Given the description of an element on the screen output the (x, y) to click on. 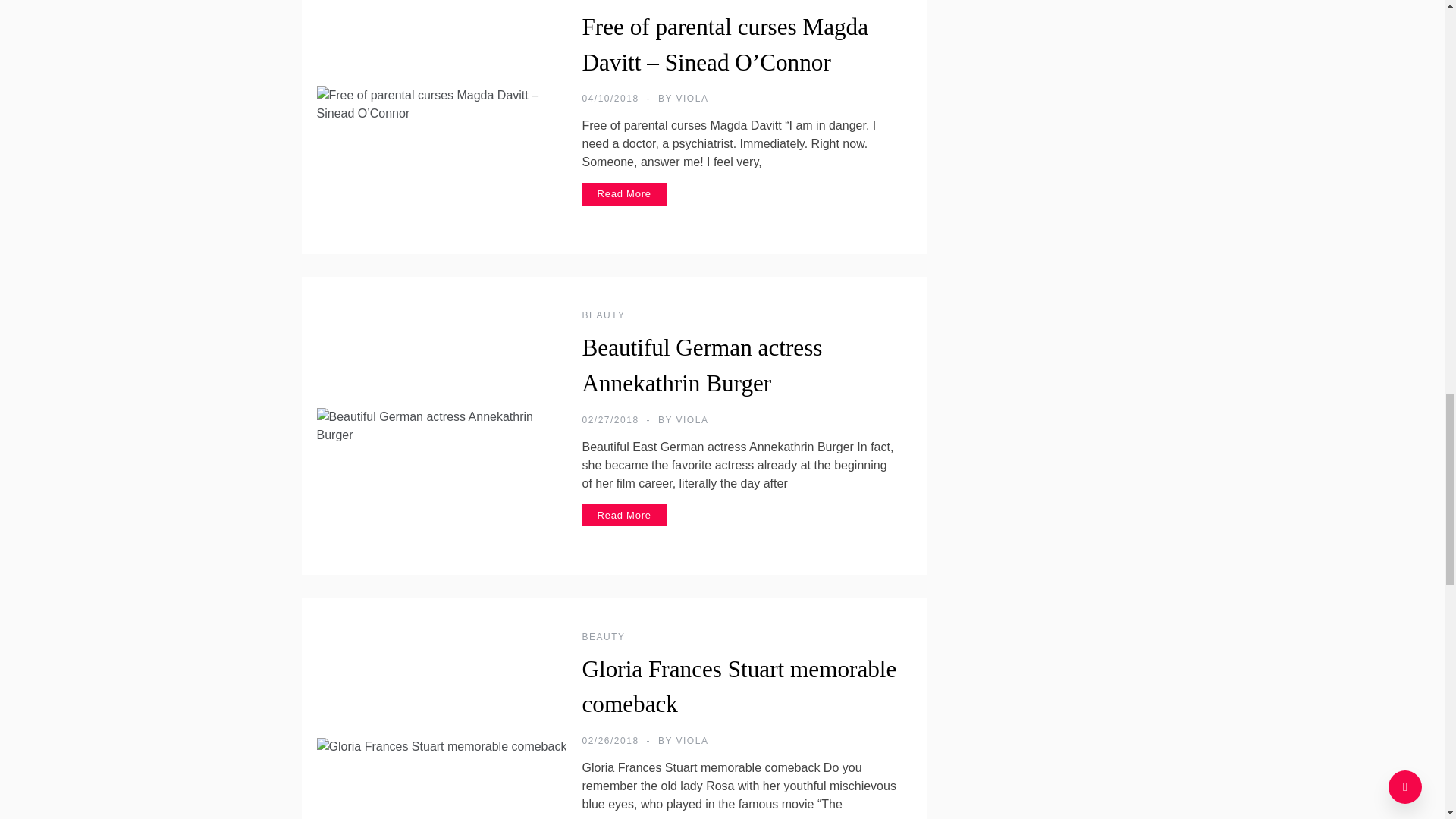
VIOLA (693, 98)
BEAUTY (604, 315)
Read More (624, 193)
